Given the description of an element on the screen output the (x, y) to click on. 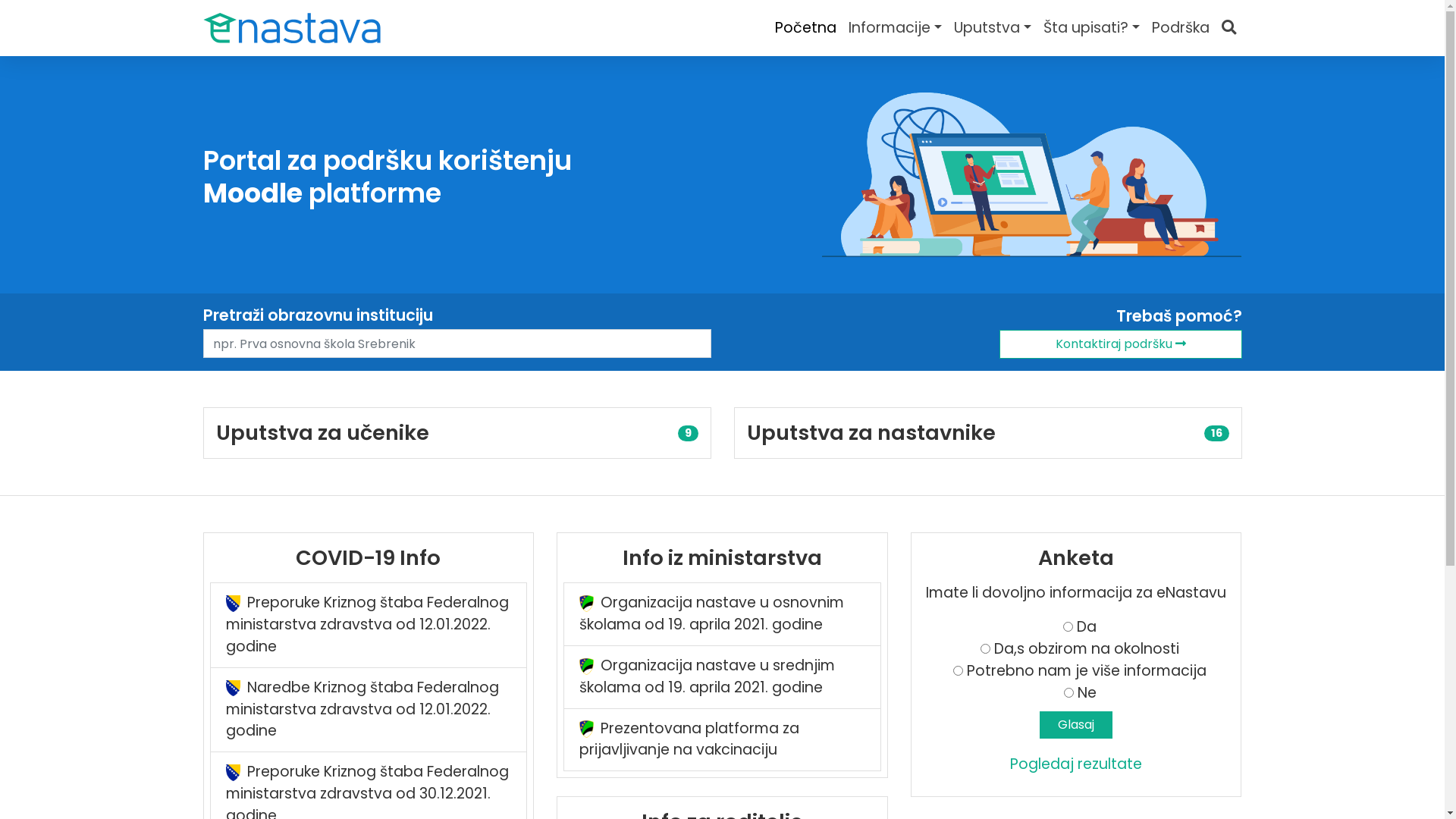
Uputstva Element type: text (992, 28)
Pogledaj rezultate Element type: text (1076, 763)
Prezentovana platforma za prijavljivanje na vakcinaciju Element type: text (722, 740)
Uputstva za nastavnike
16 Element type: text (987, 432)
   Glasaj    Element type: text (1075, 724)
Informacije Element type: text (894, 28)
